Given the description of an element on the screen output the (x, y) to click on. 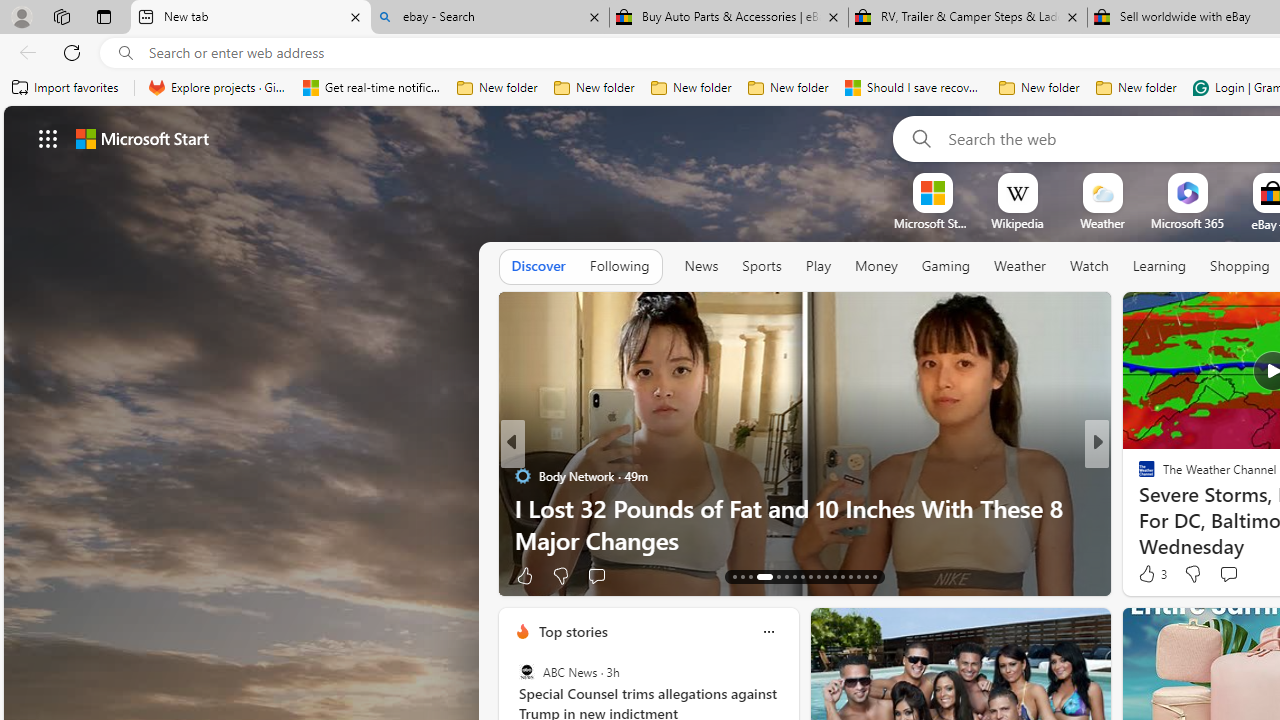
AutomationID: tab-19 (793, 576)
AutomationID: tab-28 (865, 576)
New folder (1136, 88)
Class: icon-img (768, 632)
RV, Trailer & Camper Steps & Ladders for sale | eBay (967, 17)
NBC News (1138, 475)
7 Like (1145, 574)
Money (876, 267)
ETNT Mind+Body (1138, 475)
ABC News (526, 672)
More Options (1219, 179)
